Given the description of an element on the screen output the (x, y) to click on. 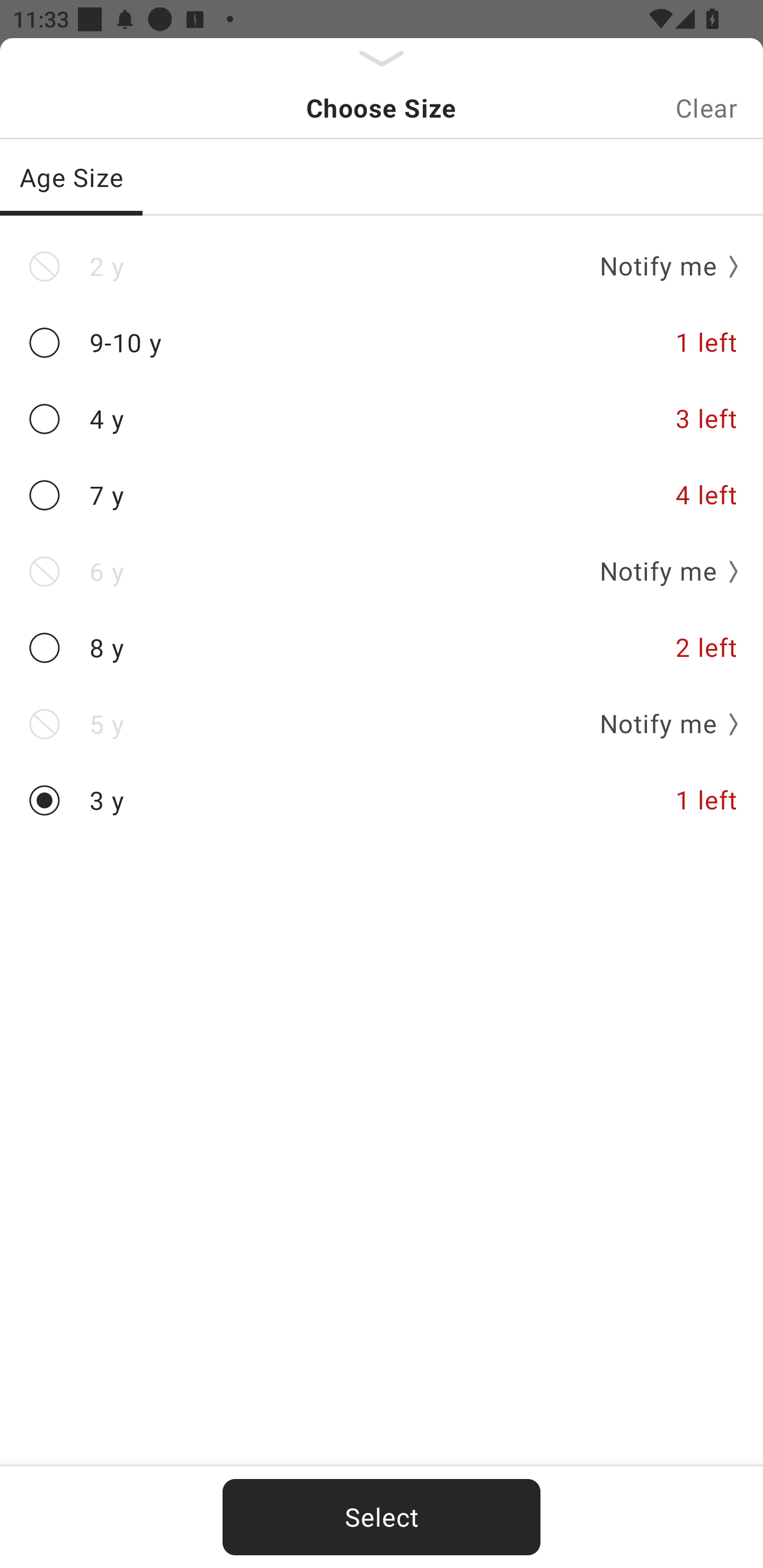
Clear (706, 107)
2 y Notify me (381, 266)
Notify me (661, 266)
9-10 y 1 left (381, 342)
4 y 3 left (381, 419)
7 y 4 left (381, 495)
6 y Notify me (381, 571)
Notify me (661, 571)
8 y 2 left (381, 647)
5 y Notify me (381, 724)
Notify me (661, 724)
3 y 1 left (381, 800)
Select (381, 1516)
